Given the description of an element on the screen output the (x, y) to click on. 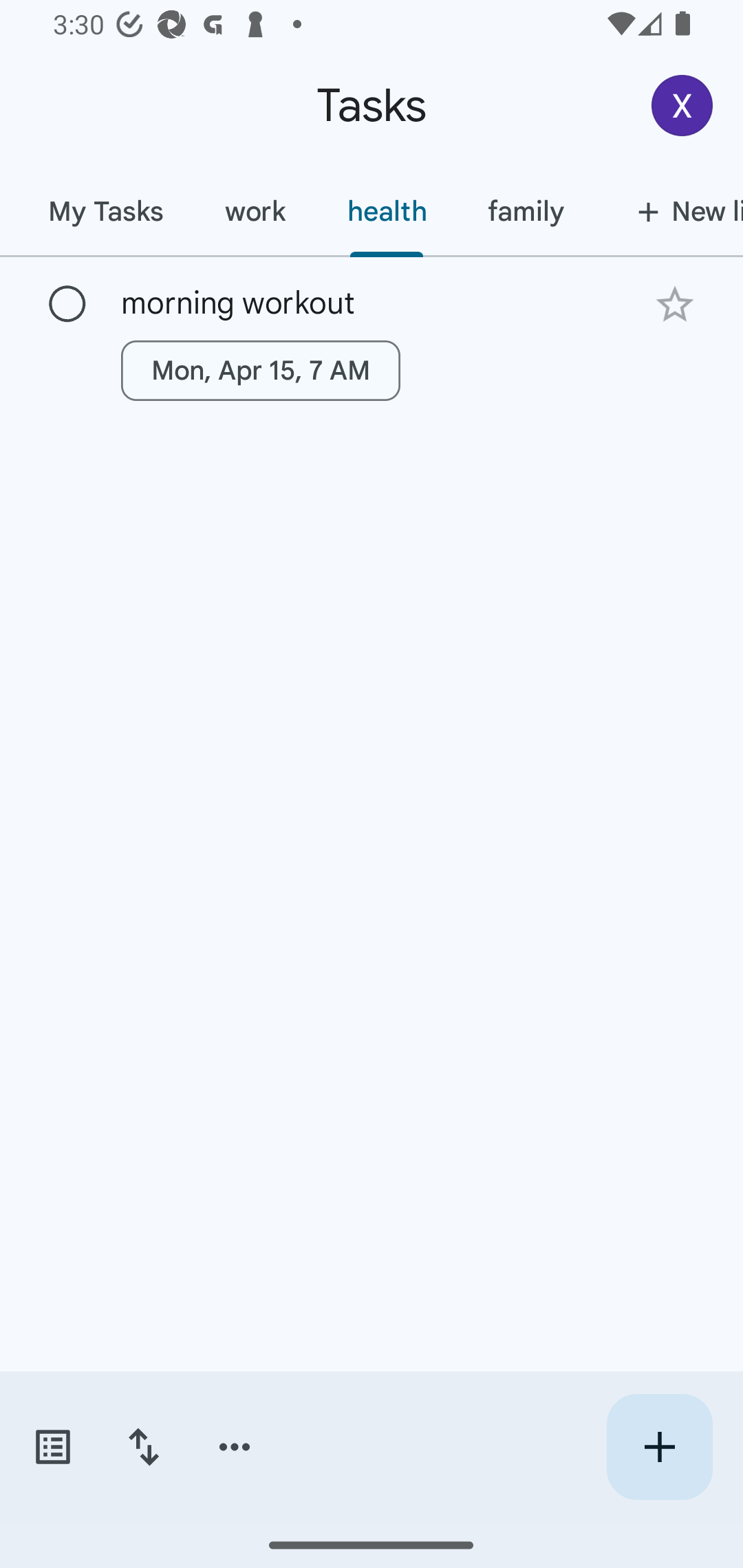
My Tasks (105, 211)
work (254, 211)
family (525, 211)
New list (669, 211)
Add star (674, 303)
Mark as complete (67, 304)
Mon, Apr 15, 7 AM (260, 369)
Switch task lists (52, 1447)
Create new task (659, 1446)
Change sort order (143, 1446)
More options (234, 1446)
